Given the description of an element on the screen output the (x, y) to click on. 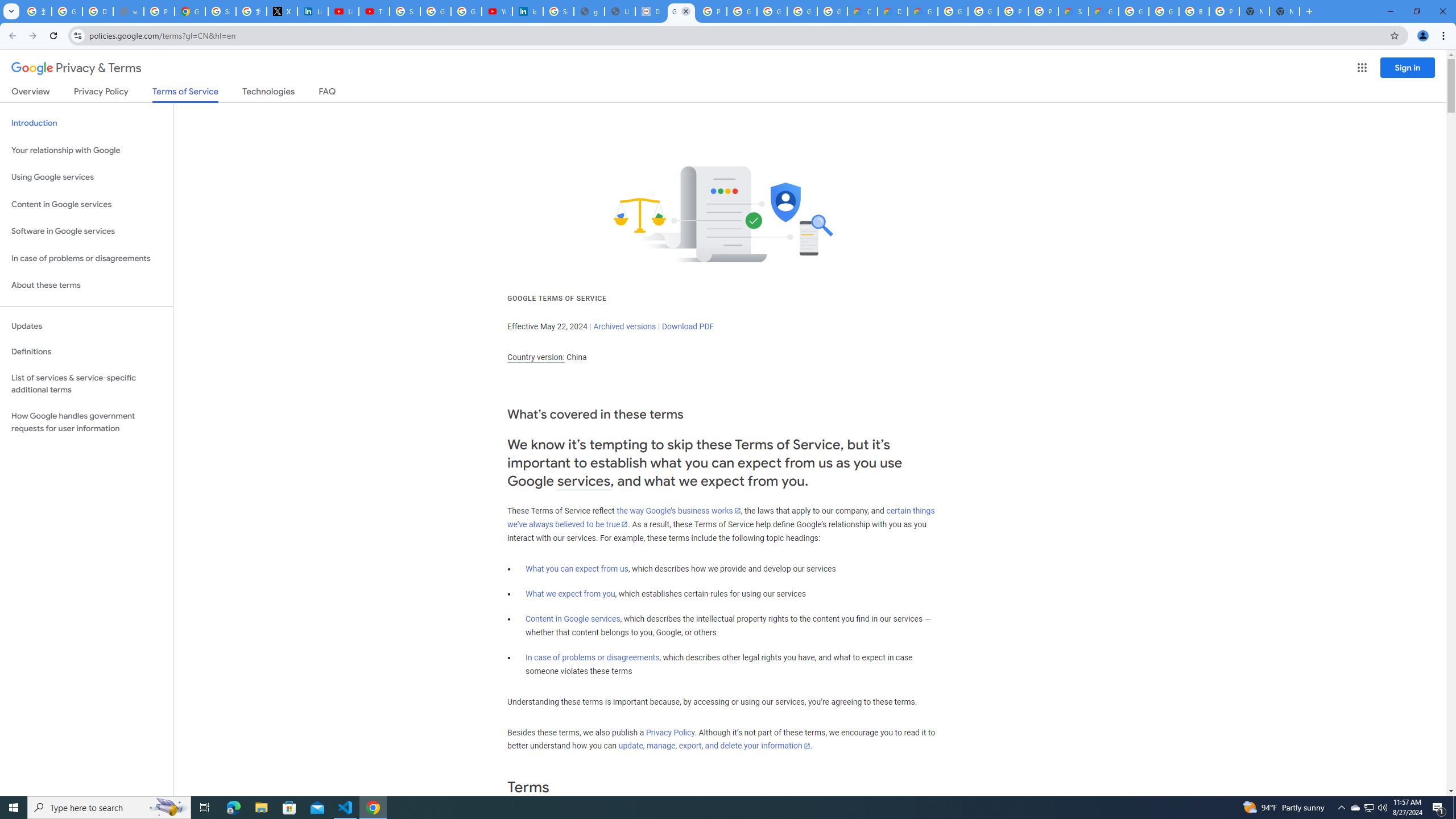
Privacy Help Center - Policies Help (158, 11)
Introduction (86, 122)
Software in Google services (86, 230)
Google Cloud Service Health (1103, 11)
What we expect from you (570, 593)
